Given the description of an element on the screen output the (x, y) to click on. 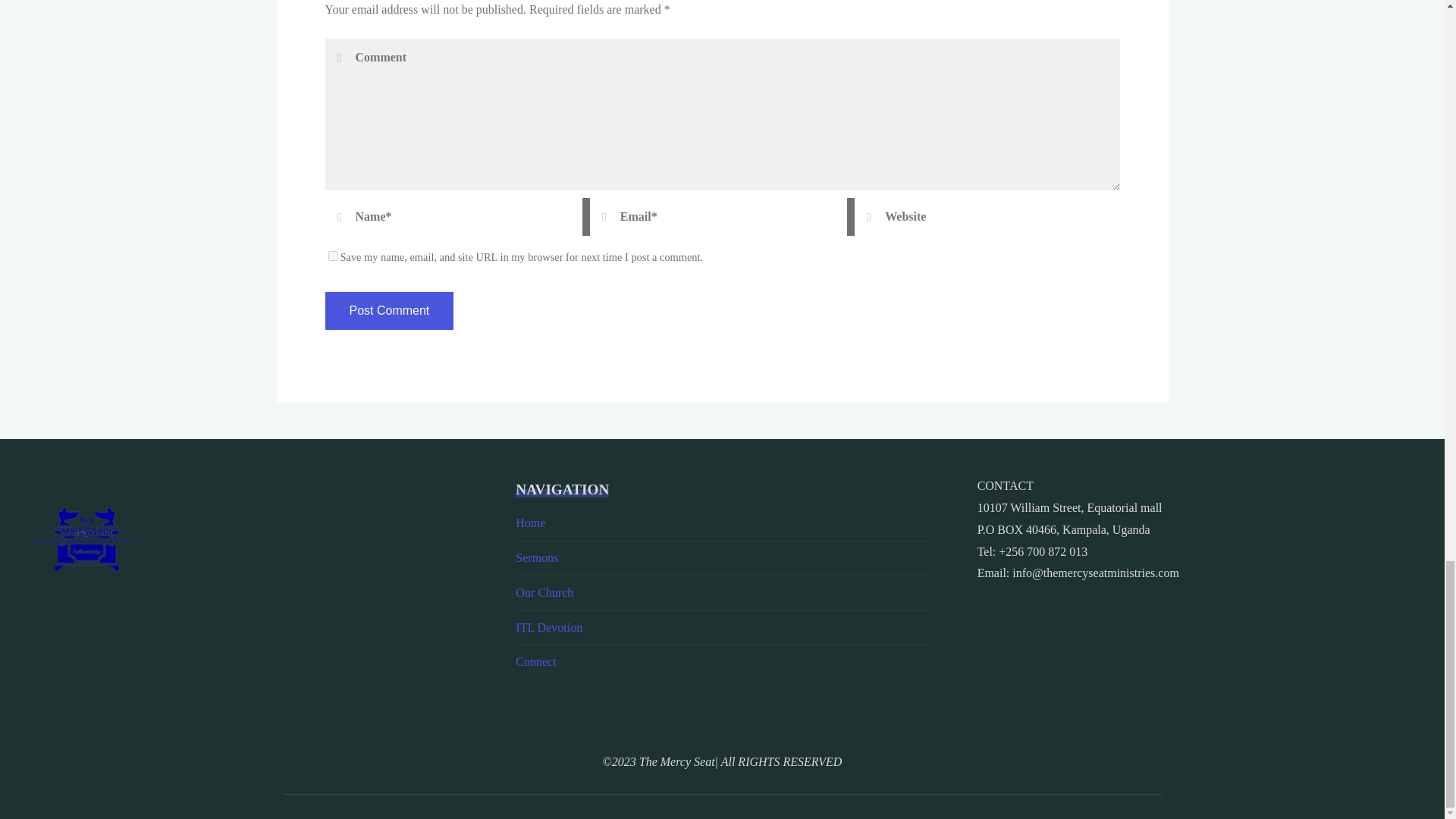
Home (529, 522)
Sermons (536, 557)
Post Comment (388, 310)
Our Church (544, 592)
yes (332, 255)
Post Comment (388, 310)
ITL Devotion (548, 626)
Connect (535, 661)
